Given the description of an element on the screen output the (x, y) to click on. 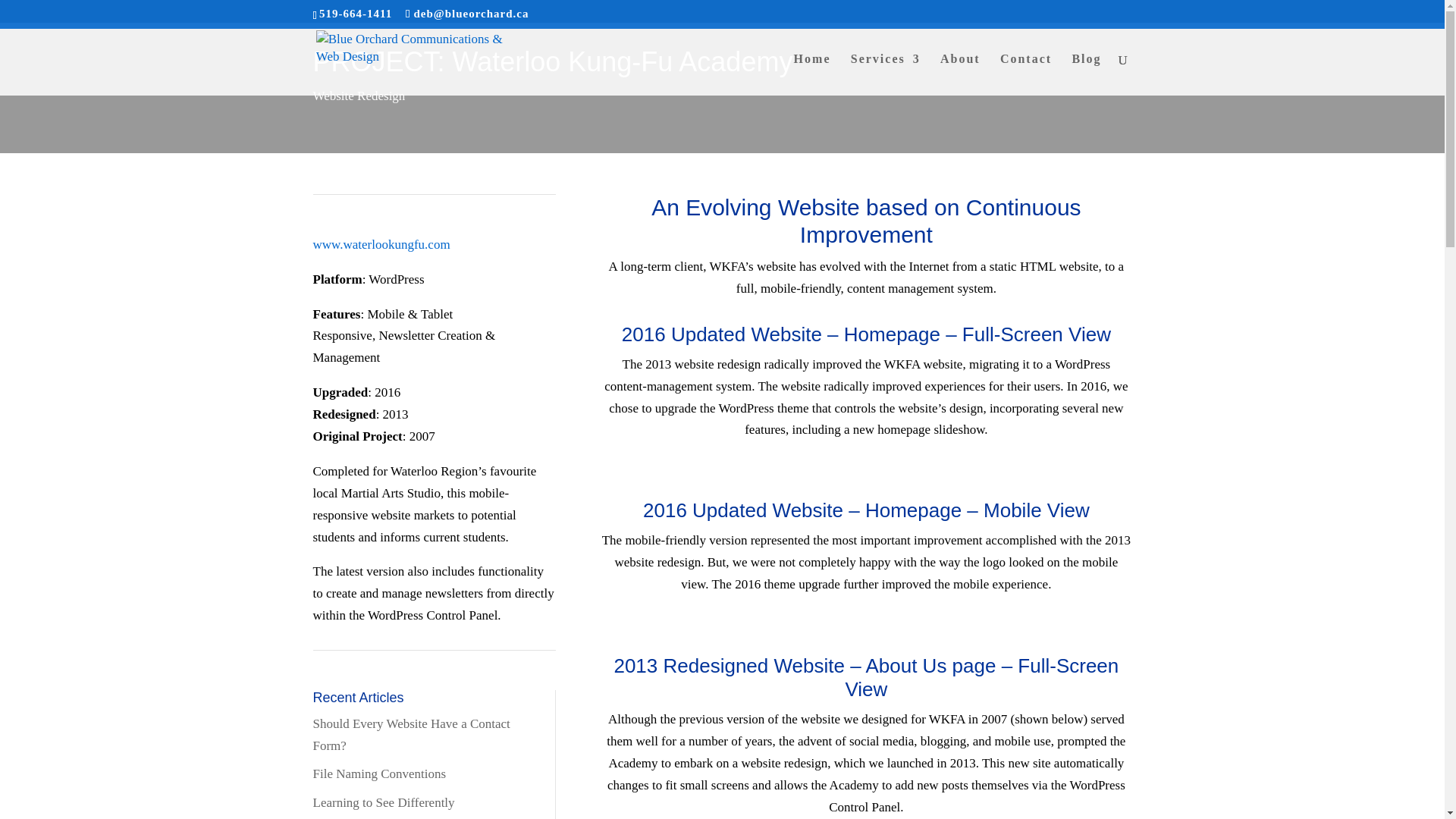
www.waterlookungfu.com (381, 244)
519-664-1411 (354, 13)
Home (812, 74)
Learning to See Differently (383, 802)
File Naming Conventions (379, 773)
Waterloo Kung-Fu Academy (381, 244)
Contact (1025, 74)
Services (885, 74)
Should Every Website Have a Contact Form? (411, 734)
About (959, 74)
